Given the description of an element on the screen output the (x, y) to click on. 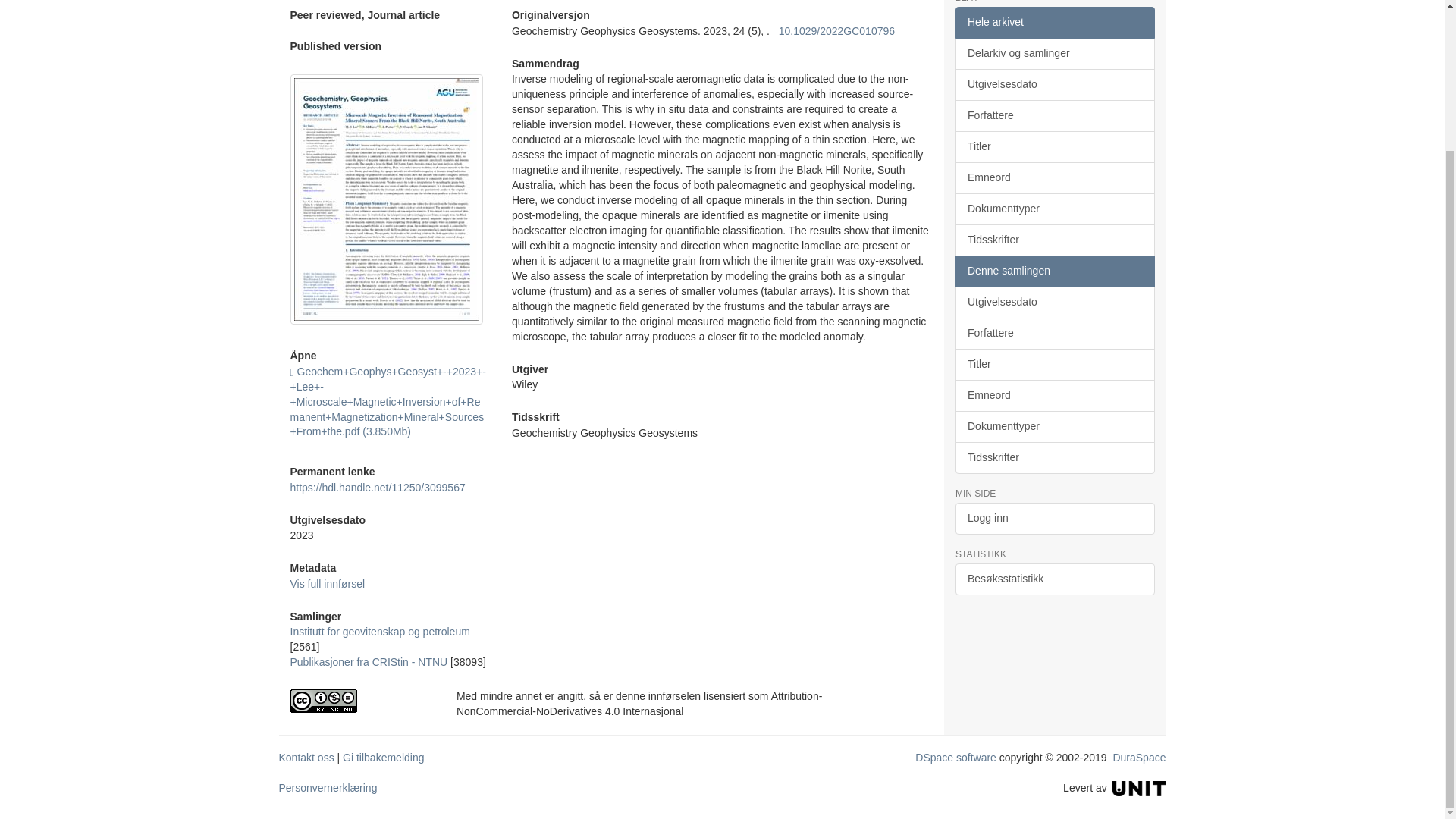
Unit (1139, 787)
Institutt for geovitenskap og petroleum (378, 631)
Attribution-NonCommercial-NoDerivatives 4.0 Internasjonal (360, 700)
Publikasjoner fra CRIStin - NTNU (367, 662)
Hele arkivet (1054, 22)
